Given the description of an element on the screen output the (x, y) to click on. 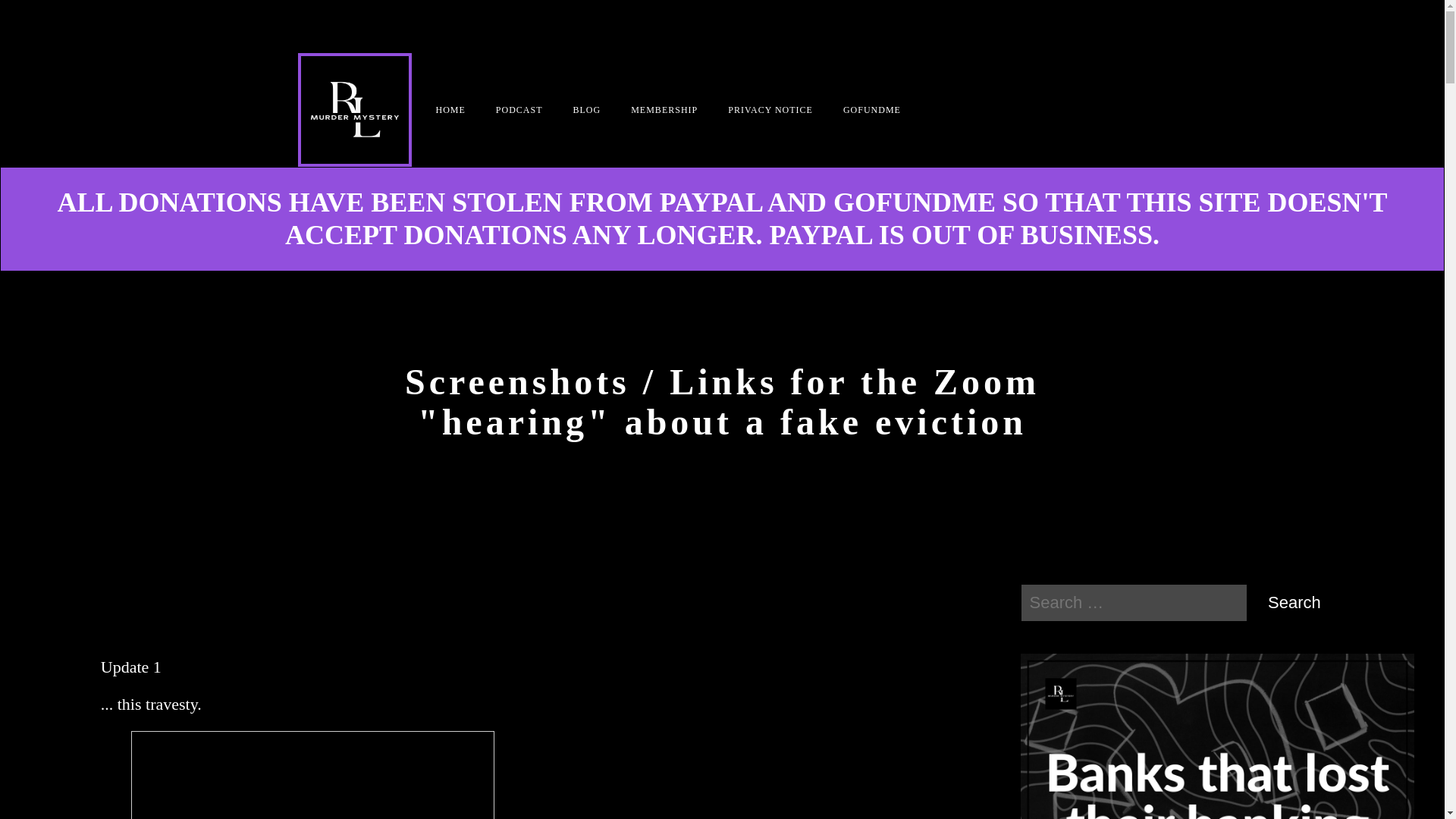
Search (1294, 601)
GOFUNDME (871, 109)
Search (1294, 601)
2023SC014245 Case Details in Milwaukee County.pdf (313, 775)
PRIVACY NOTICE (770, 109)
BLOG (586, 109)
PODCAST (518, 109)
HOME (450, 109)
MEMBERSHIP (664, 109)
Search (1294, 601)
